Given the description of an element on the screen output the (x, y) to click on. 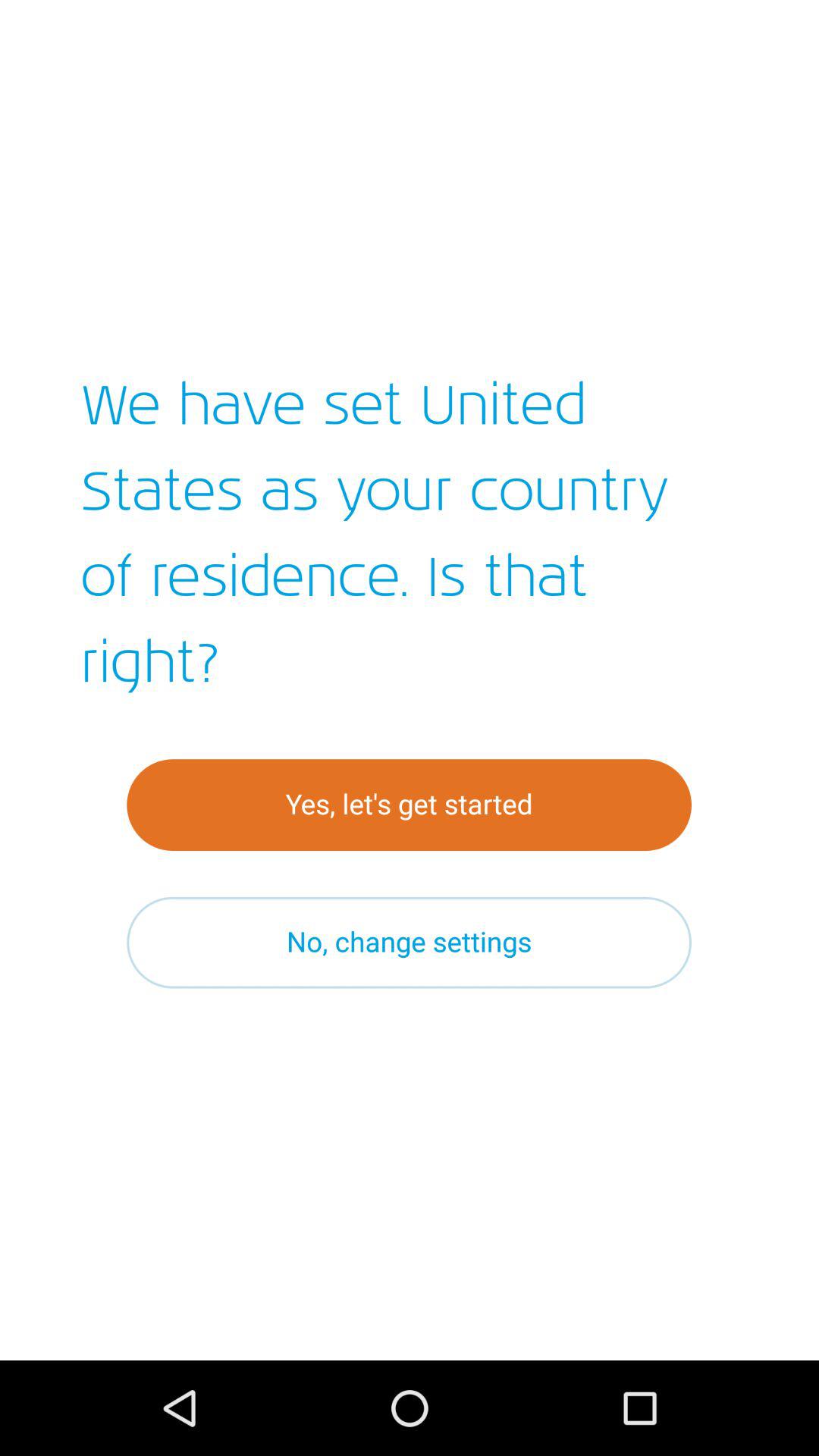
select yes let s icon (408, 804)
